Given the description of an element on the screen output the (x, y) to click on. 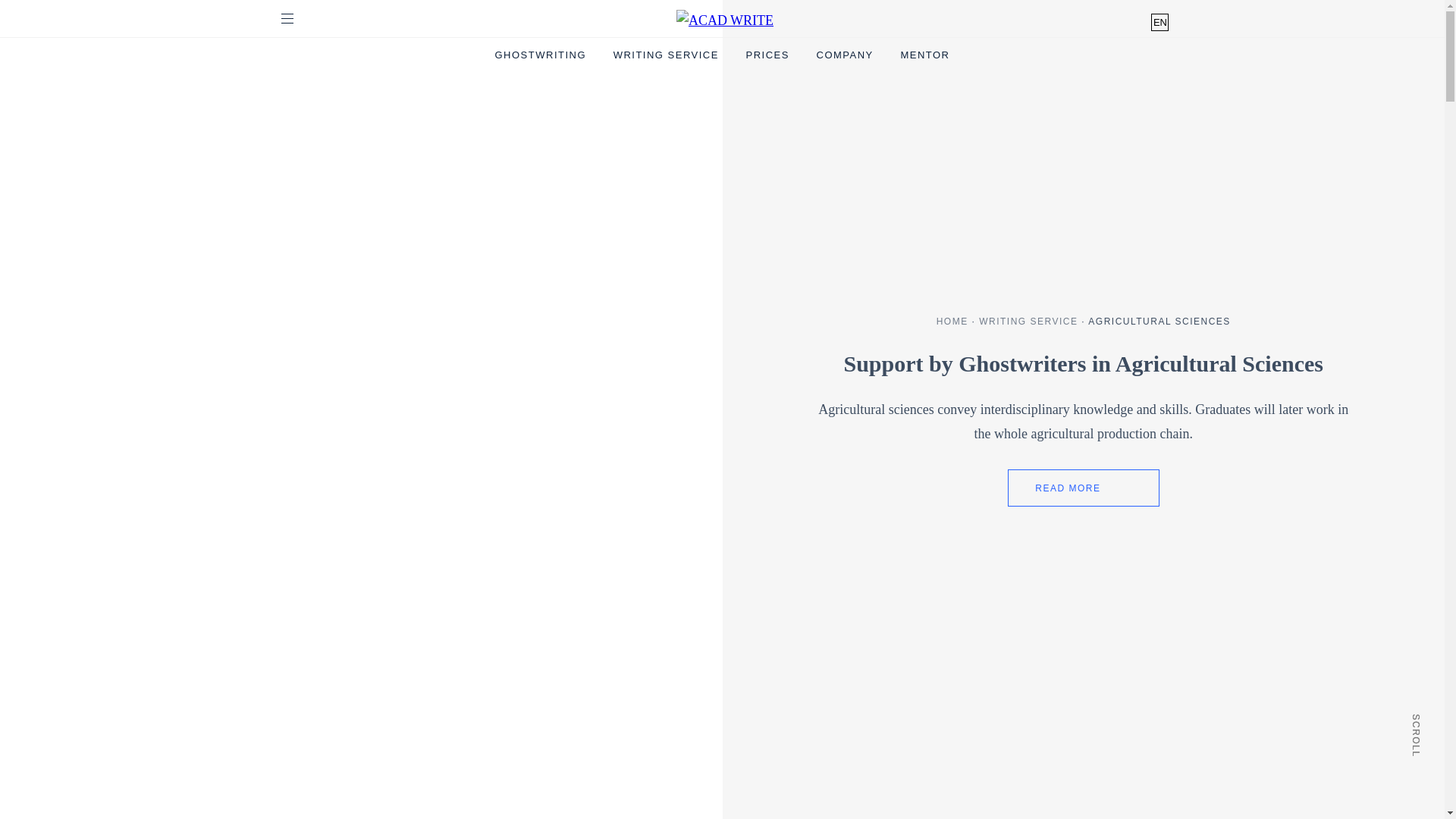
MENTOR (924, 54)
PRICES (767, 54)
COMPANY (844, 54)
WRITING SERVICE (665, 54)
GHOSTWRITING (540, 54)
ACAD WRITE (725, 20)
